Given the description of an element on the screen output the (x, y) to click on. 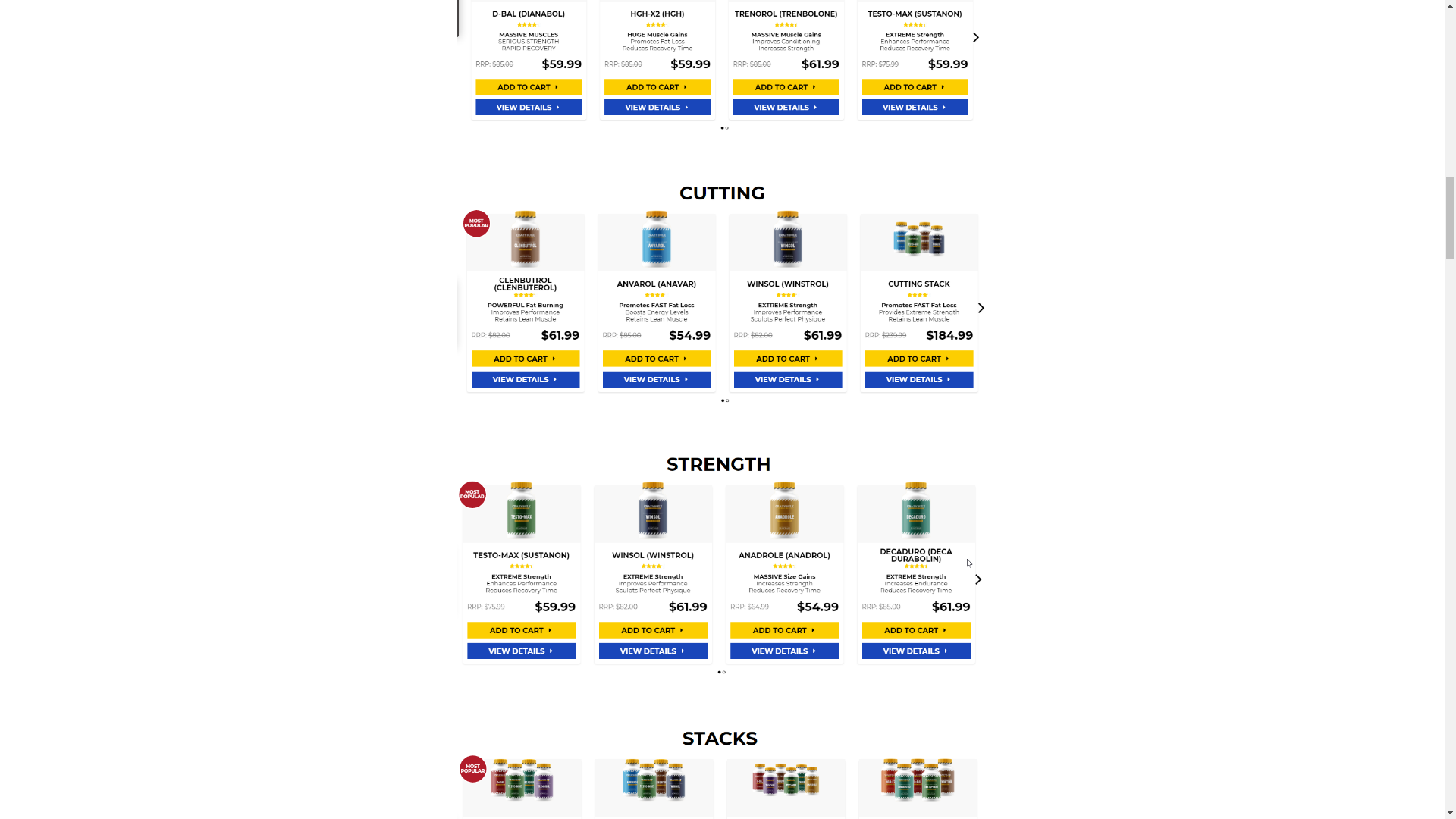
Hgh putten (722, 69)
Hgh putten (722, 290)
Hgh putten (722, 562)
Hgh putten (722, 767)
